Given the description of an element on the screen output the (x, y) to click on. 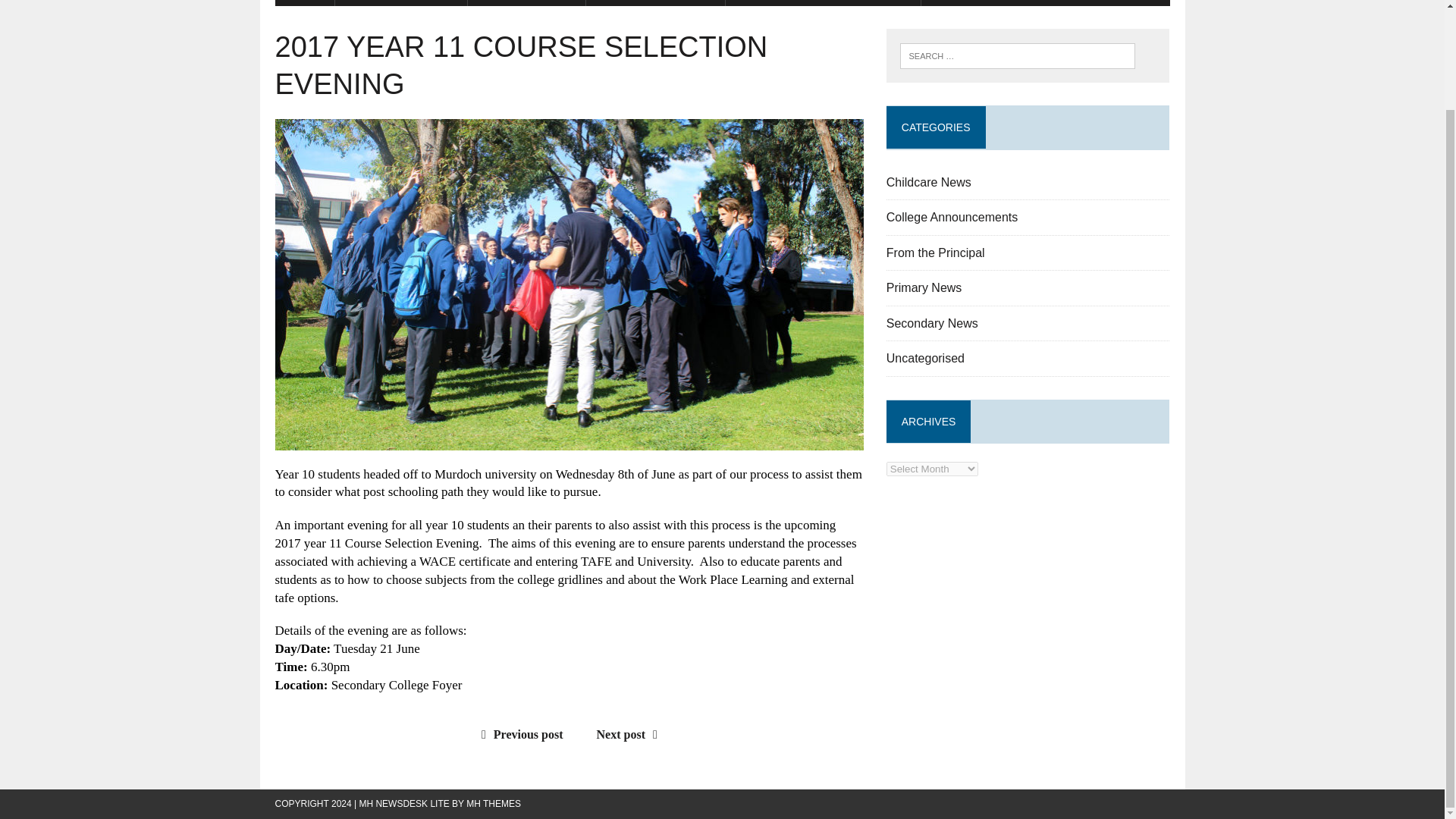
HOME (304, 2)
College Announcements (951, 216)
COLLEGE ANNOUNCEMENTS (822, 2)
Secondary News (932, 323)
CHILDCARE NEWS (400, 2)
Childcare News (928, 182)
Primary News (924, 287)
Previous post (518, 734)
Next post (630, 734)
SECONDARY NEWS (655, 2)
PRIMARY NEWS (526, 2)
From the Principal (935, 252)
FROM THE PRINCIPAL (997, 2)
Uncategorised (924, 358)
MH THEMES (493, 803)
